Given the description of an element on the screen output the (x, y) to click on. 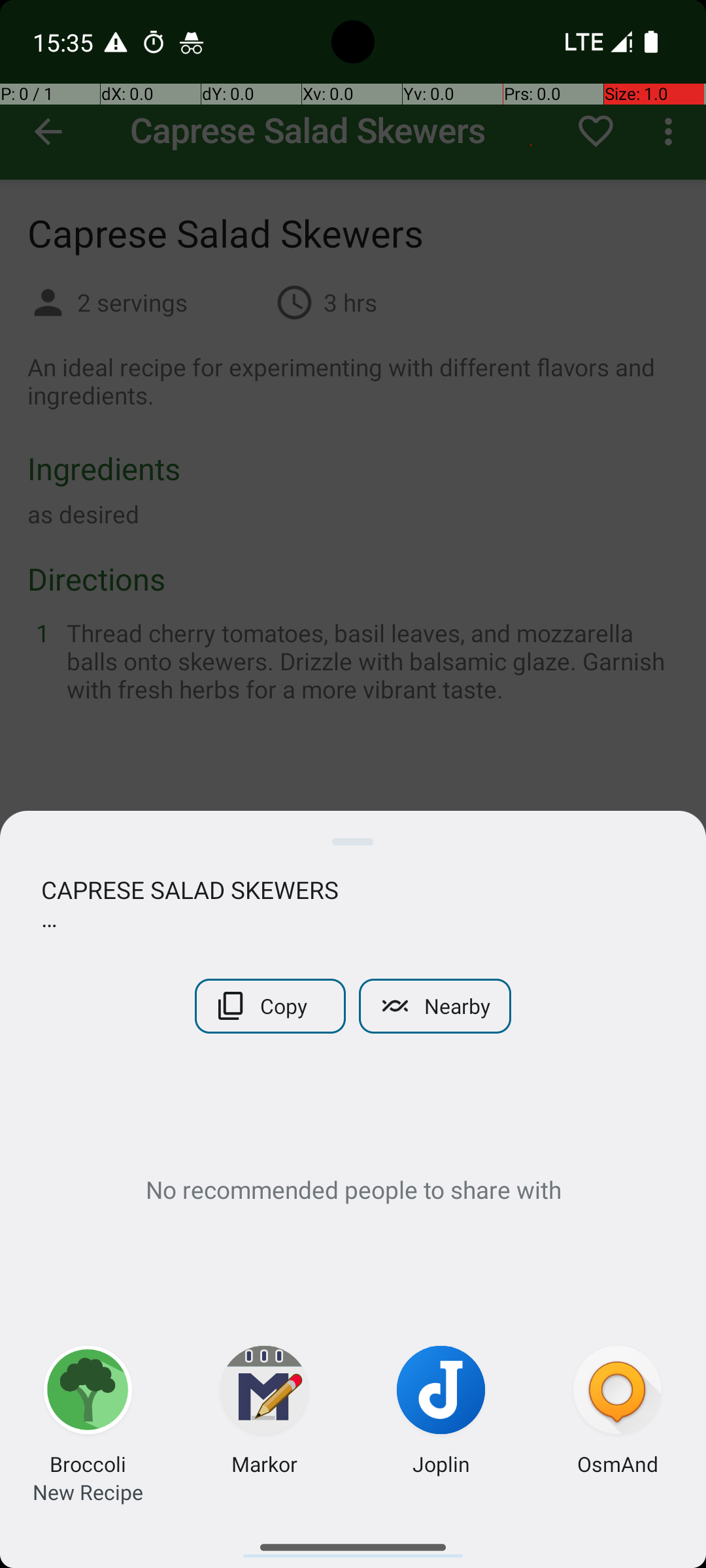
Apps list Element type: android.widget.ImageView (353, 1541)
CAPRESE SALAD SKEWERS

Servings: 2 servings
Time: 3 hrs

An ideal recipe for experimenting with different flavors and ingredients.

Ingredients:
- as desired

Directions:
1. Thread cherry tomatoes, basil leaves, and mozzarella balls onto skewers. Drizzle with balsamic glaze. Garnish with fresh herbs for a more vibrant taste.

Shared with https://play.google.com/store/apps/details?id=com.flauschcode.broccoli Element type: android.widget.TextView (352, 903)
Copy Element type: android.widget.Button (269, 1005)
Nearby Element type: android.widget.Button (434, 1005)
No recommended people to share with Element type: android.widget.TextView (353, 1189)
Broccoli Element type: android.widget.TextView (87, 1463)
Joplin Element type: android.widget.TextView (441, 1463)
OsmAnd Element type: android.widget.TextView (617, 1463)
